Given the description of an element on the screen output the (x, y) to click on. 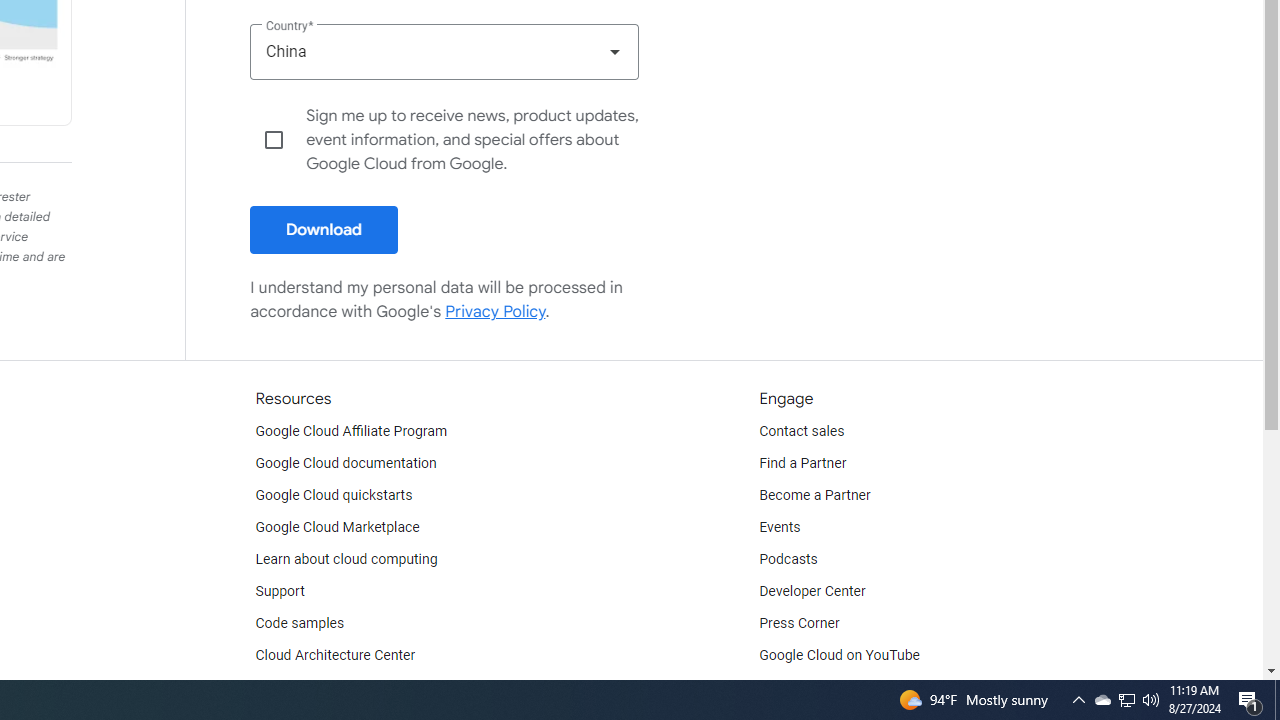
Find a Partner (803, 463)
Google Cloud Affiliate Program (351, 431)
Code samples (299, 623)
Download (324, 229)
Events (780, 527)
Support (279, 591)
Training (279, 687)
